Given the description of an element on the screen output the (x, y) to click on. 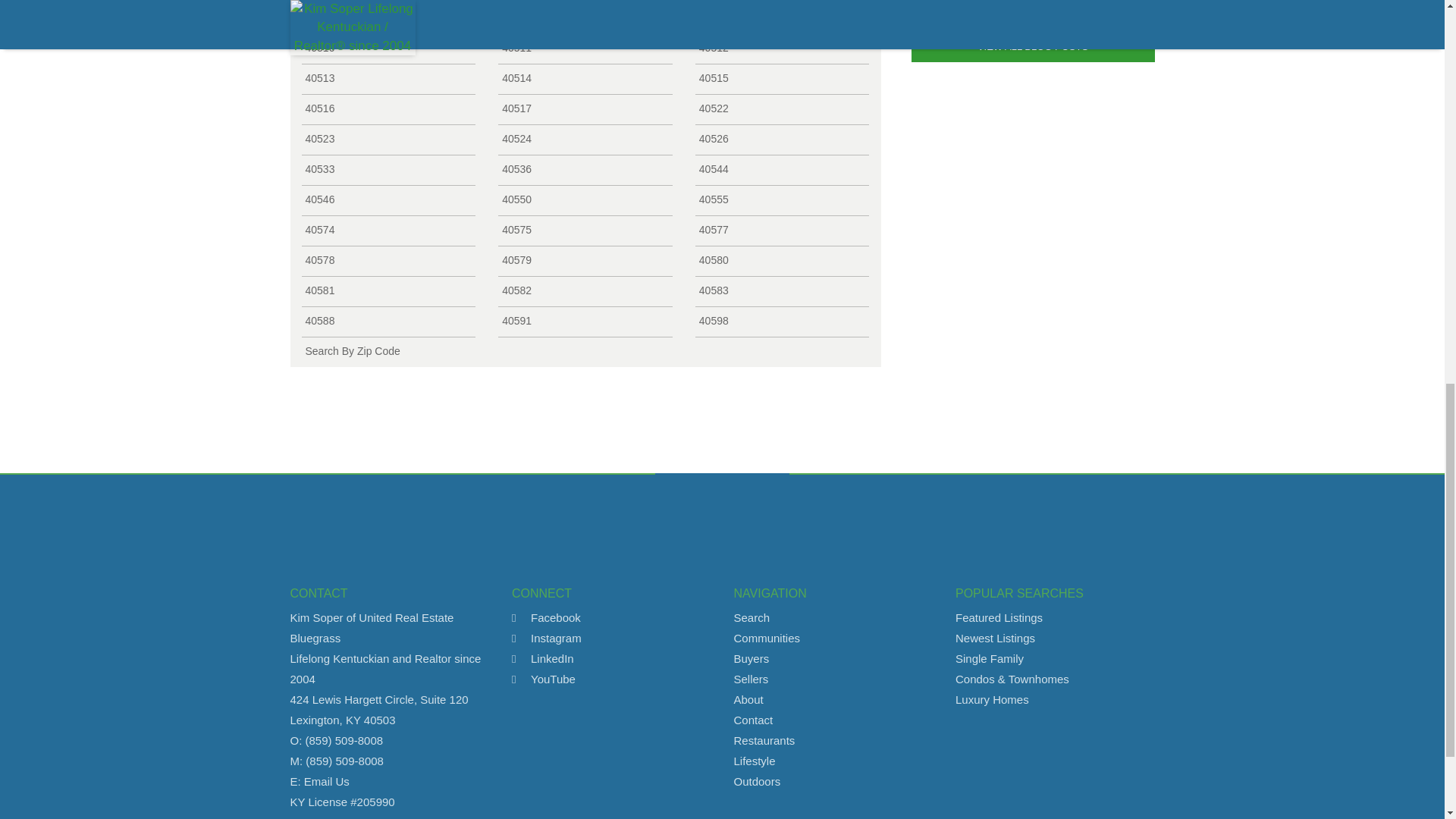
View 40506 (782, 2)
View 40504 (388, 2)
View 40507 (388, 18)
View 40505 (584, 2)
